Given the description of an element on the screen output the (x, y) to click on. 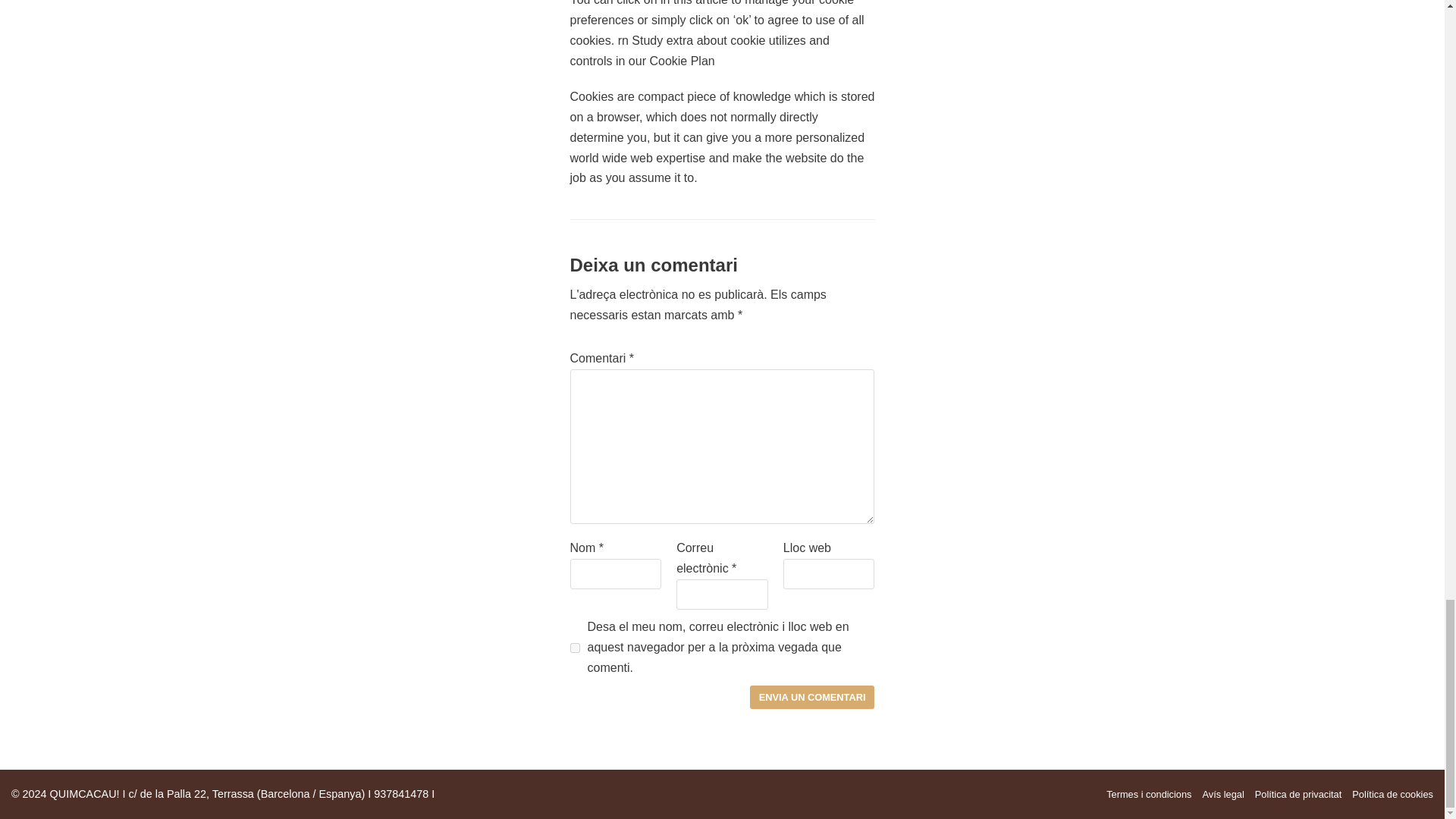
Envia un comentari (812, 697)
Envia un comentari (812, 697)
yes (574, 647)
Termes i condicions (1148, 794)
